Given the description of an element on the screen output the (x, y) to click on. 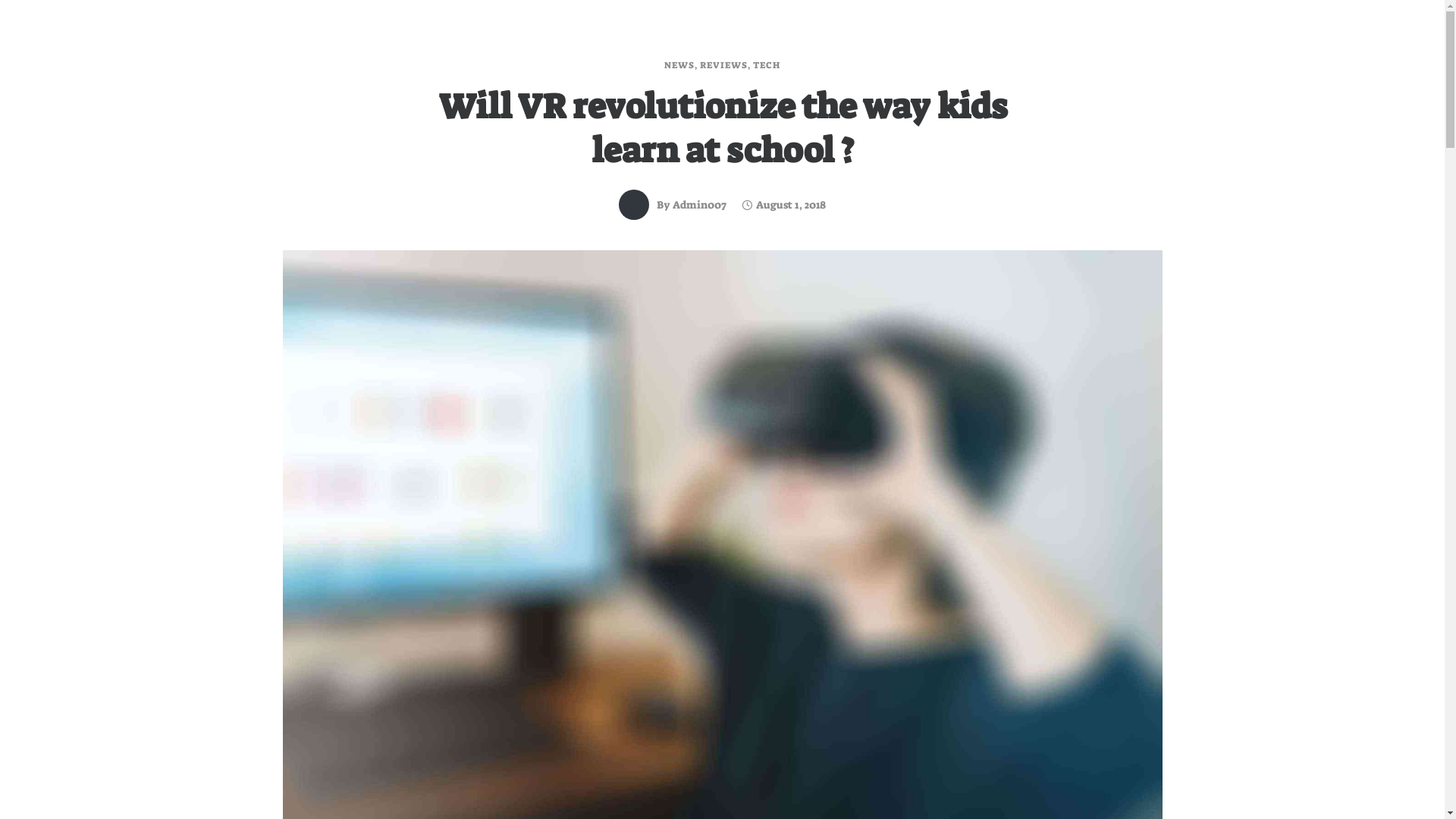
Will VR revolutionize the way kids learn at school ? Element type: text (721, 128)
NEWS Element type: text (679, 64)
Admin007 Element type: text (699, 204)
TECH Element type: text (766, 64)
August 1, 2018 Element type: text (783, 204)
REVIEWS Element type: text (723, 64)
